Given the description of an element on the screen output the (x, y) to click on. 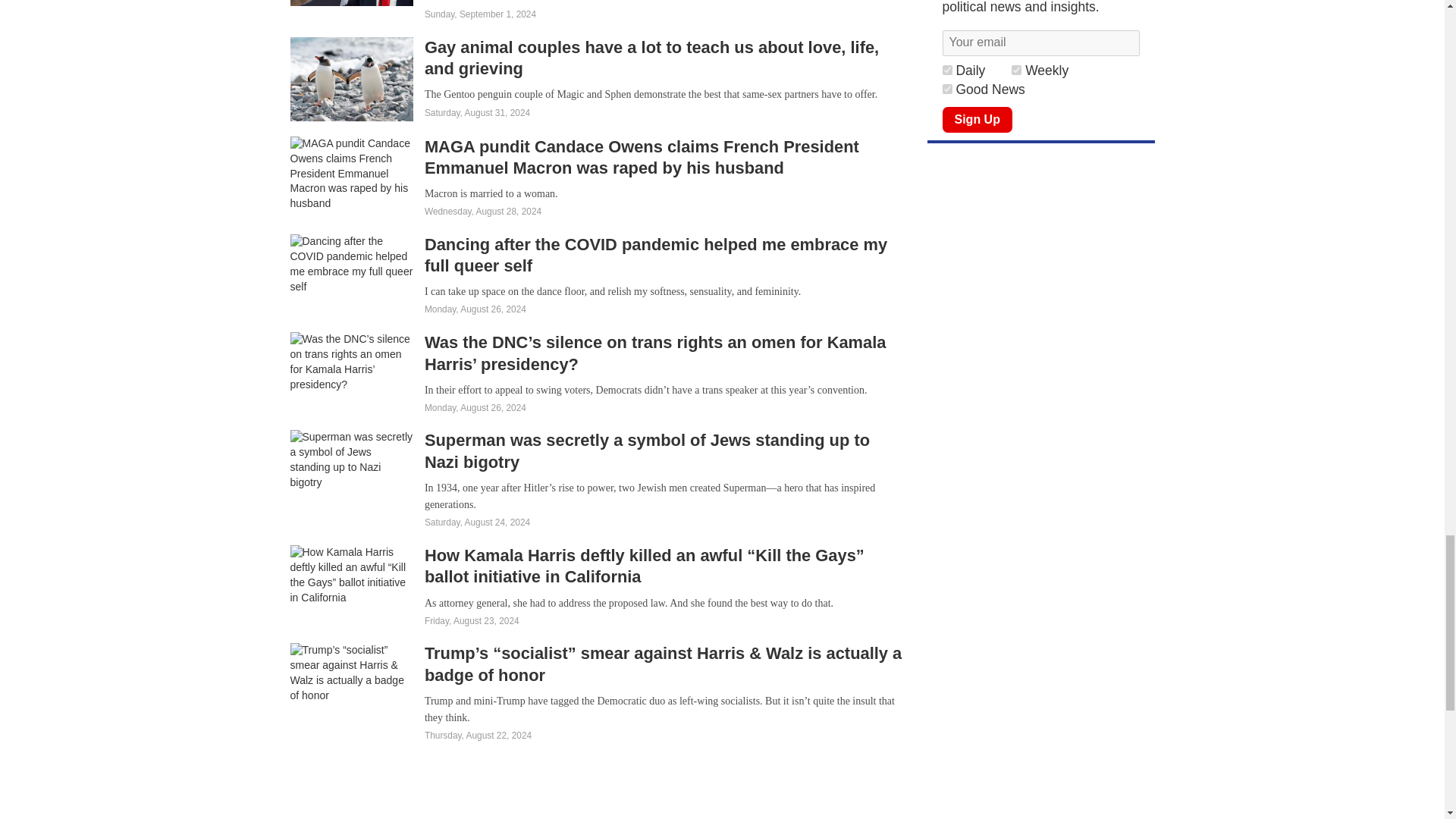
1920883 (947, 89)
1920884 (1016, 70)
1920885 (947, 70)
Sign Up (976, 119)
